Given the description of an element on the screen output the (x, y) to click on. 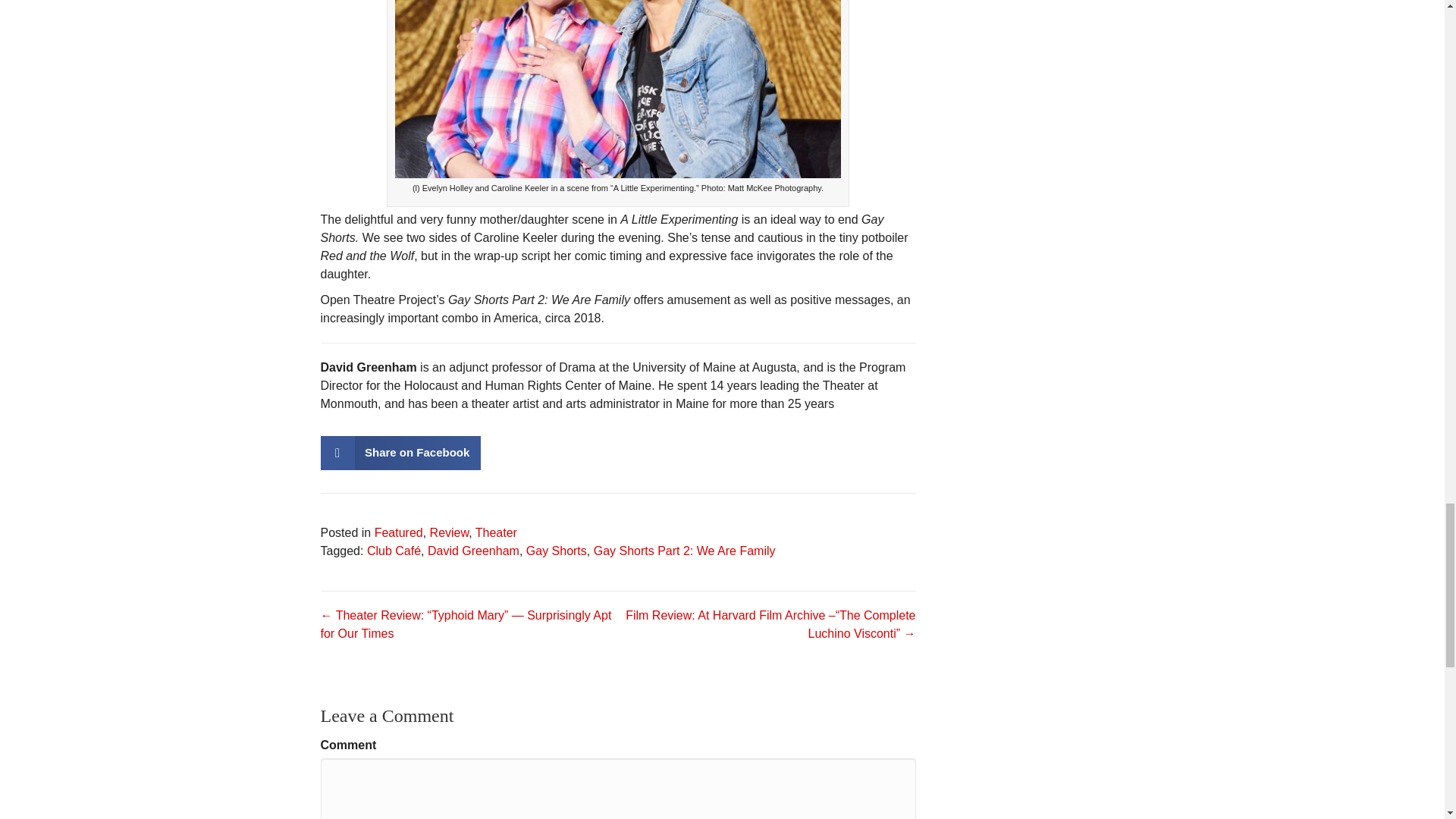
David Greenham (473, 550)
Review (448, 532)
Gay Shorts Part 2: We Are Family (685, 550)
Share on Facebook (400, 452)
Theater (496, 532)
Featured (398, 532)
Gay Shorts (555, 550)
